Given the description of an element on the screen output the (x, y) to click on. 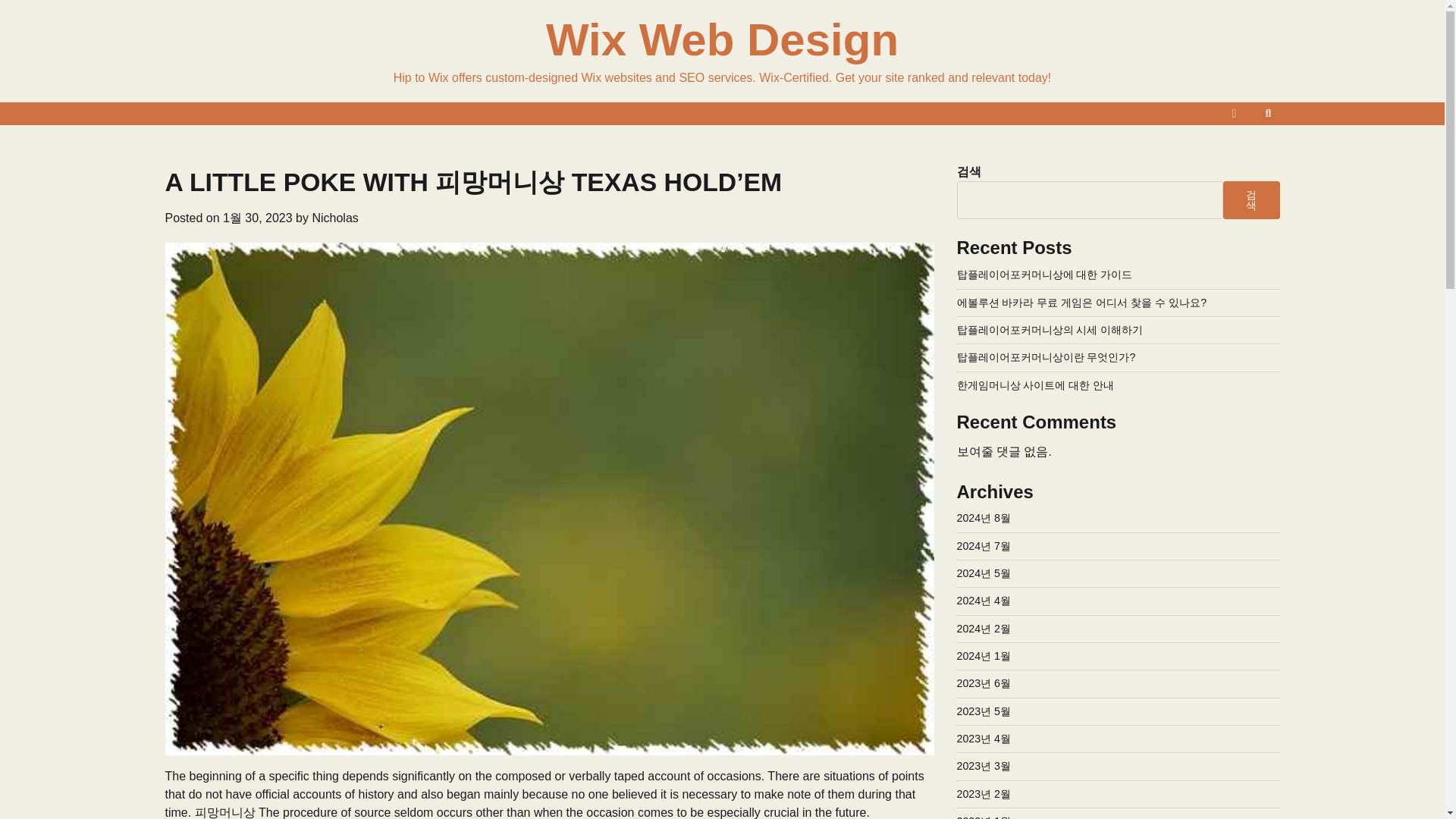
Search (1268, 113)
View Random Post (1234, 113)
Nicholas (334, 217)
Wix Web Design (722, 39)
